Given the description of an element on the screen output the (x, y) to click on. 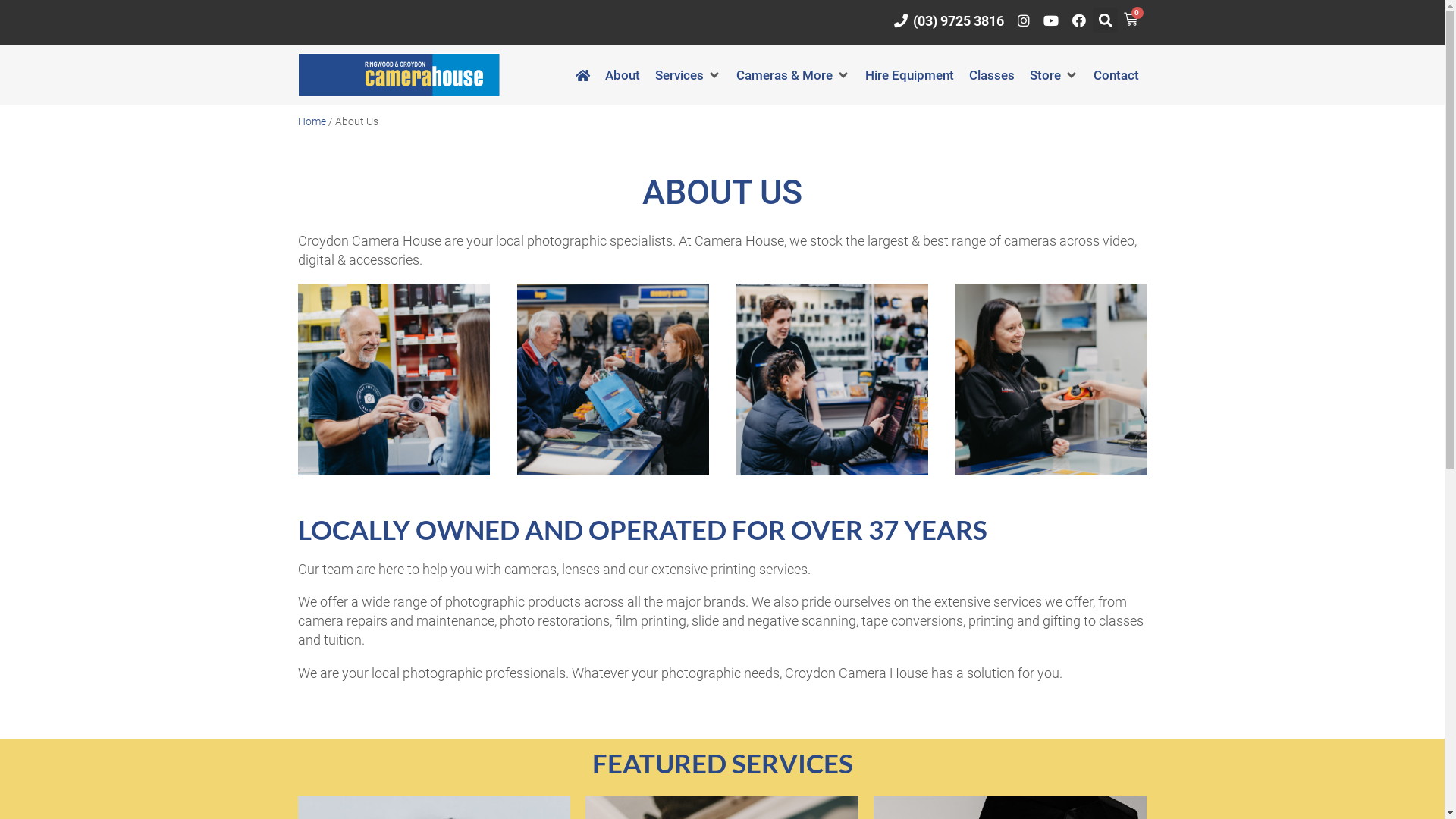
Connect with us on YouTube Element type: hover (1050, 20)
Classes Element type: text (991, 74)
Home Element type: text (311, 121)
(03) 9725 3816 Element type: text (948, 20)
Connect with us on Instagram. Element type: hover (1023, 20)
Store Element type: text (1044, 74)
Contact Element type: text (1116, 74)
0 Element type: text (1131, 20)
About Element type: text (622, 74)
Connect with us on Facebook Element type: hover (1078, 20)
Hire Equipment Element type: text (909, 74)
Services Element type: text (679, 74)
Cameras & More Element type: text (784, 74)
